Given the description of an element on the screen output the (x, y) to click on. 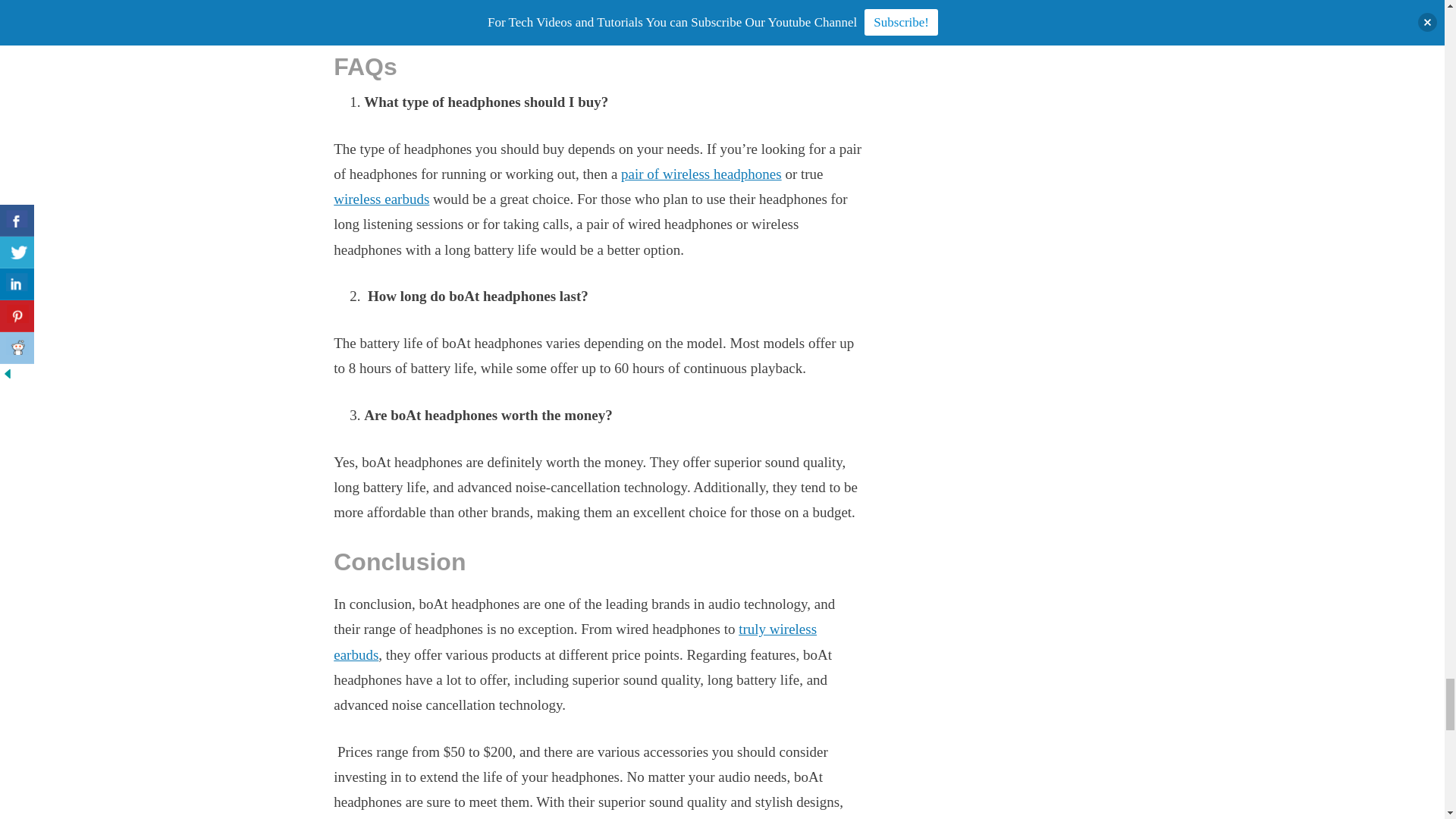
truly wireless earbuds (574, 640)
wireless earbuds (381, 198)
pair of wireless headphones (701, 173)
